Given the description of an element on the screen output the (x, y) to click on. 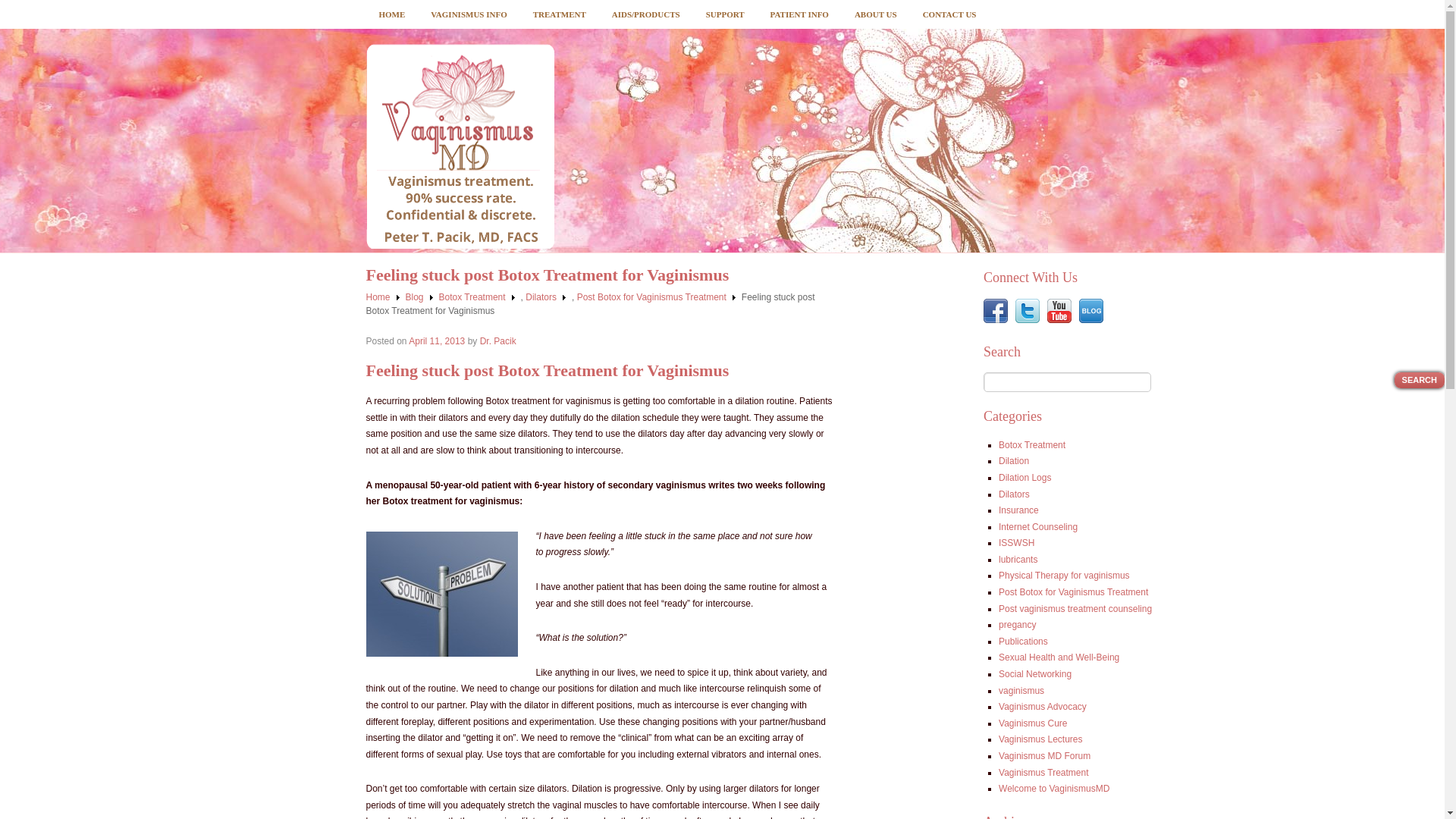
Vaginismus MD (459, 146)
ABOUT US (875, 14)
View all posts by Dr. Pacik (498, 340)
VAGINISMUS INFO (468, 14)
PATIENT INFO (799, 14)
TREATMENT (558, 14)
HOME (391, 14)
5:00 AM (436, 340)
SUPPORT (725, 14)
